Given the description of an element on the screen output the (x, y) to click on. 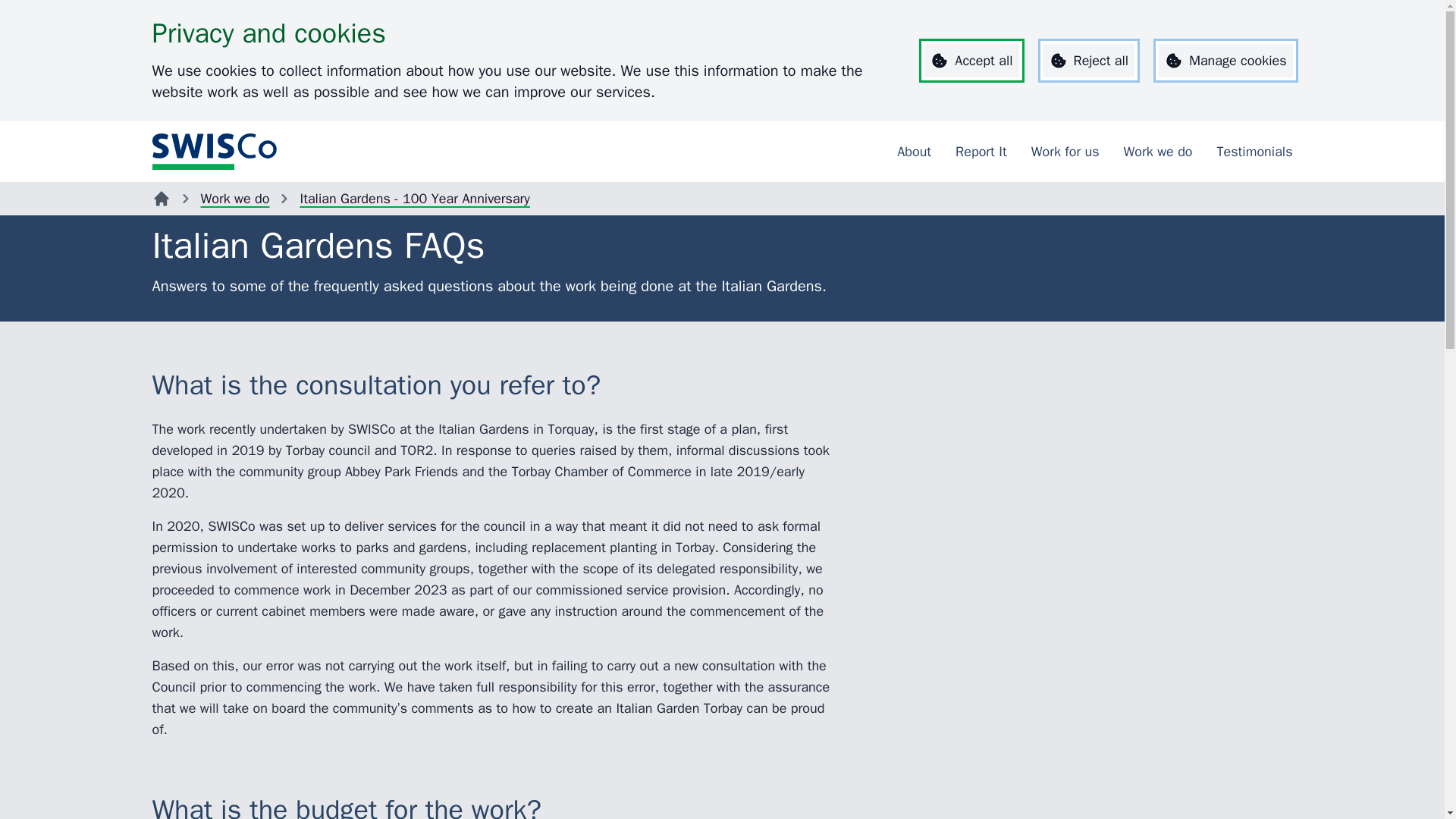
Reject all (1089, 60)
About (913, 151)
Testimonials (1254, 151)
Work we do (234, 198)
Accept all (970, 60)
Report It (981, 151)
Italian Gardens - 100 Year Anniversary (414, 198)
Manage cookies (1225, 60)
Work for us (1064, 151)
Work we do (1158, 151)
